Given the description of an element on the screen output the (x, y) to click on. 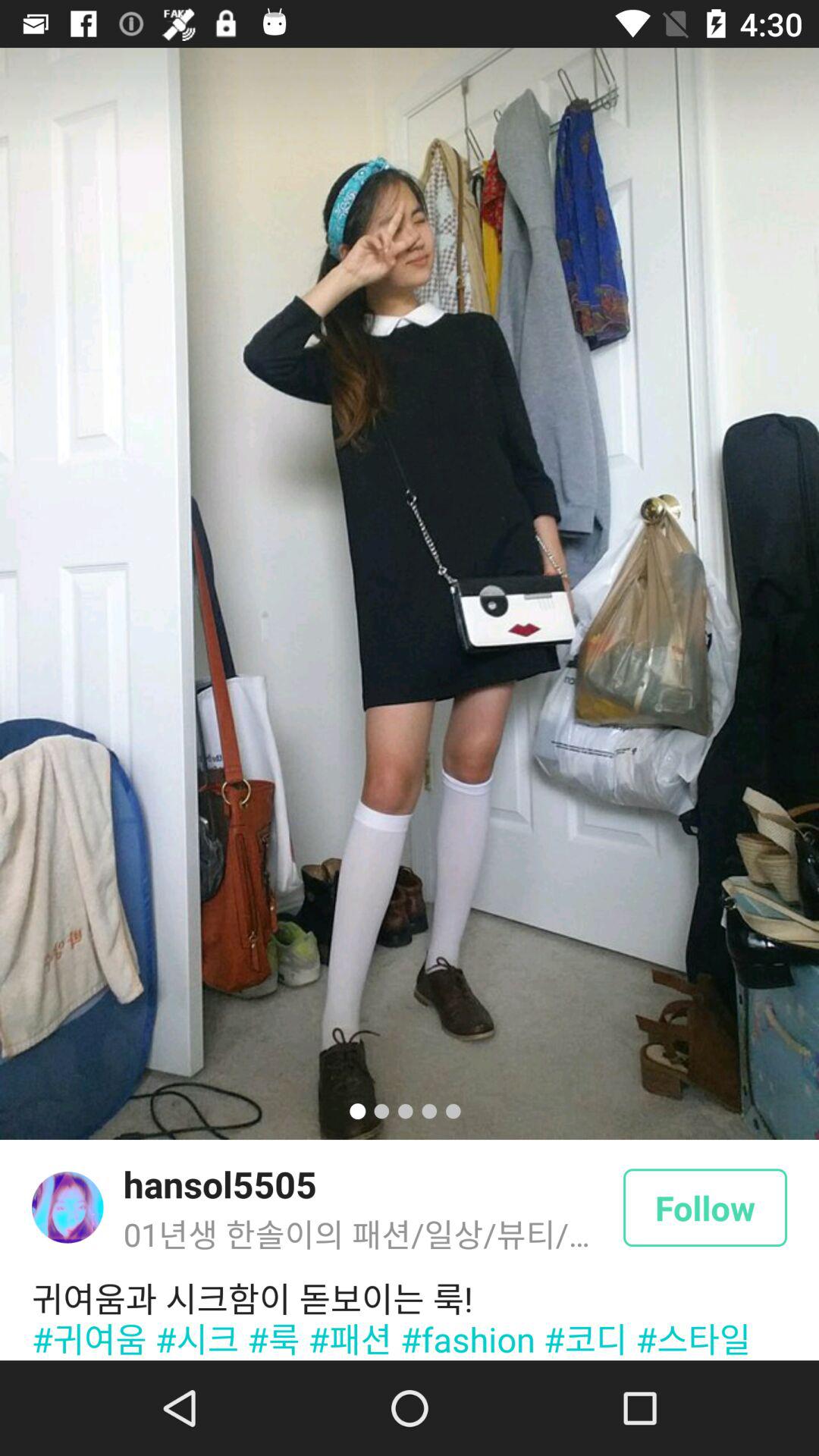
turn off the item to the left of the hansol5505 (67, 1207)
